Given the description of an element on the screen output the (x, y) to click on. 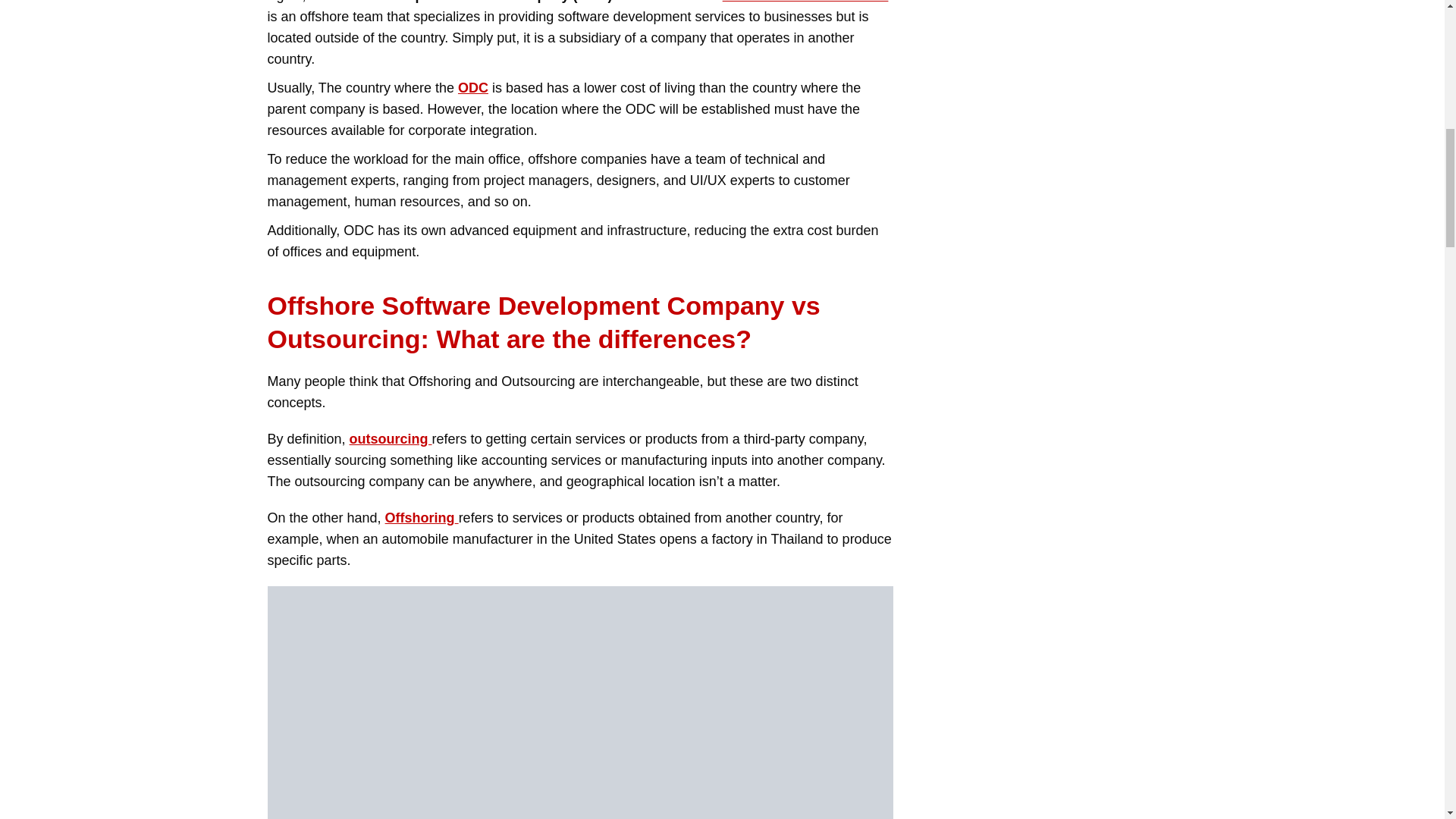
Time and Materials Model (805, 1)
ODC (472, 87)
